Given the description of an element on the screen output the (x, y) to click on. 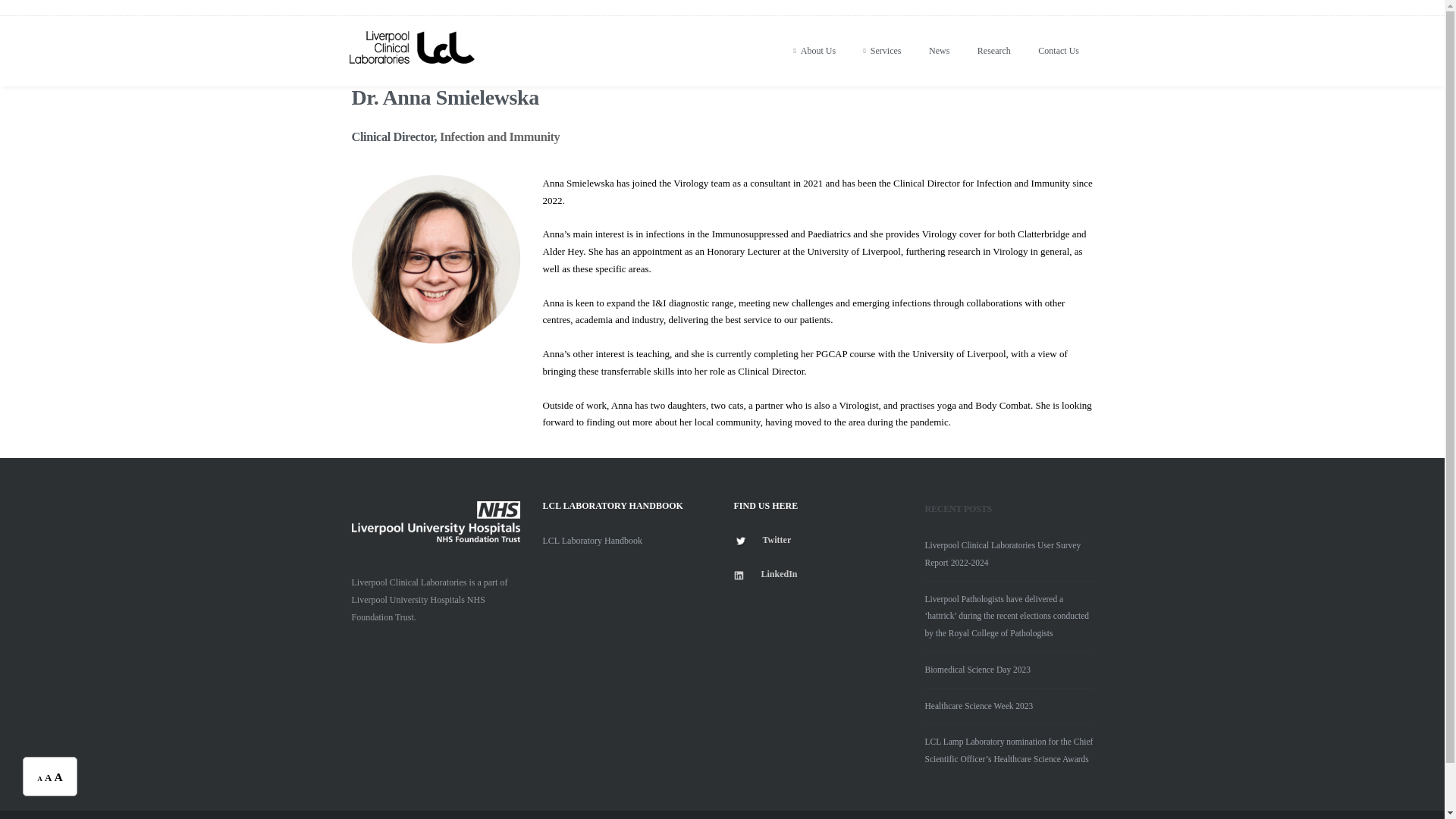
Biomedical Science Day 2023 (977, 669)
Twitter (777, 539)
Liverpool Clinical Laboratories User Survey Report 2022-2024 (1002, 553)
Research (994, 58)
Contact Us (1059, 58)
LCL Laboratory Handbook (593, 540)
Infection and Immunity (499, 136)
About Us (813, 58)
Services (882, 58)
 LinkedIn (777, 573)
Healthcare Science Week 2023 (978, 705)
